Given the description of an element on the screen output the (x, y) to click on. 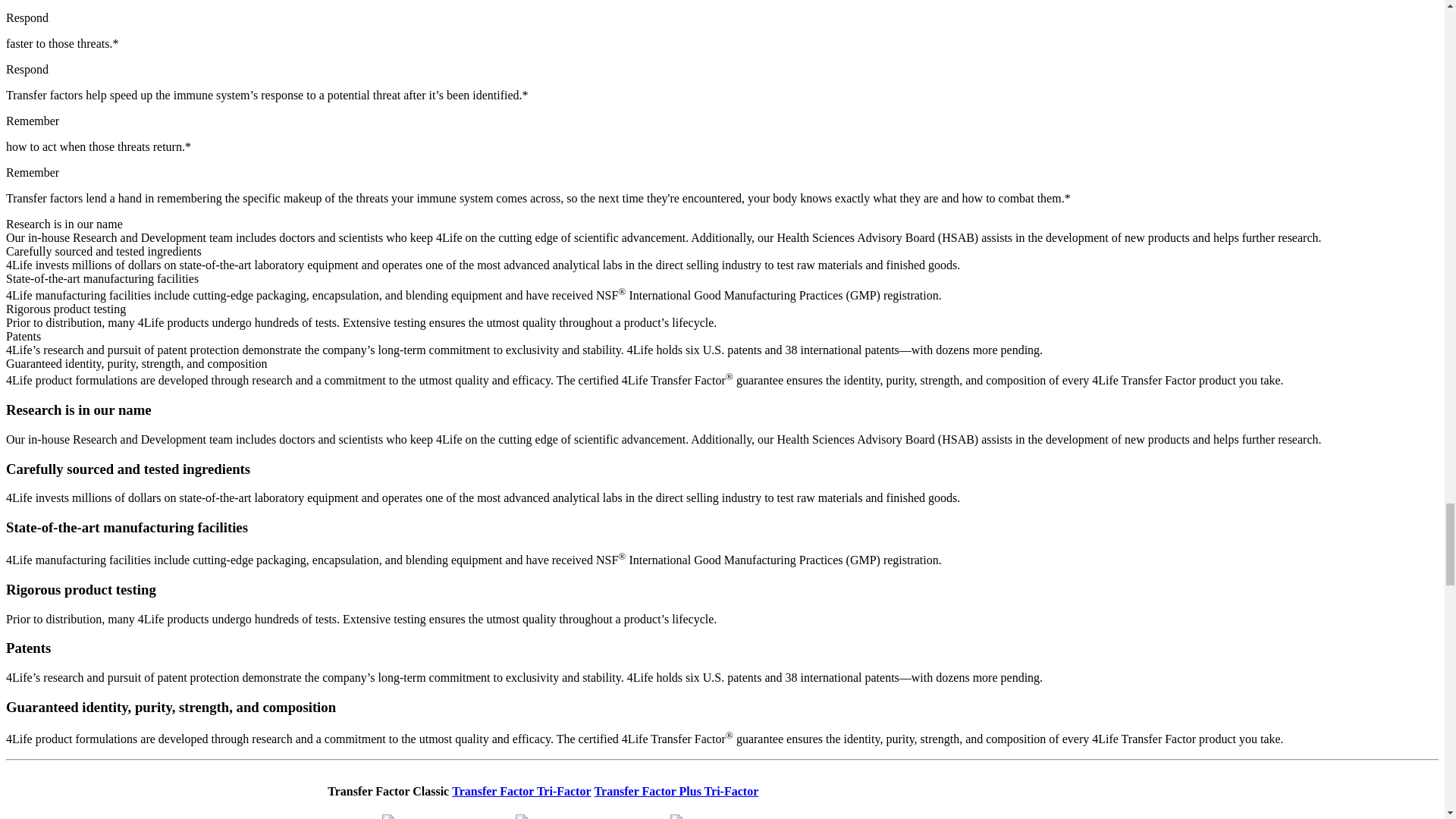
Transfer Factor Plus Tri-Factor (676, 790)
Transfer Factor Tri-Factor (521, 790)
